Given the description of an element on the screen output the (x, y) to click on. 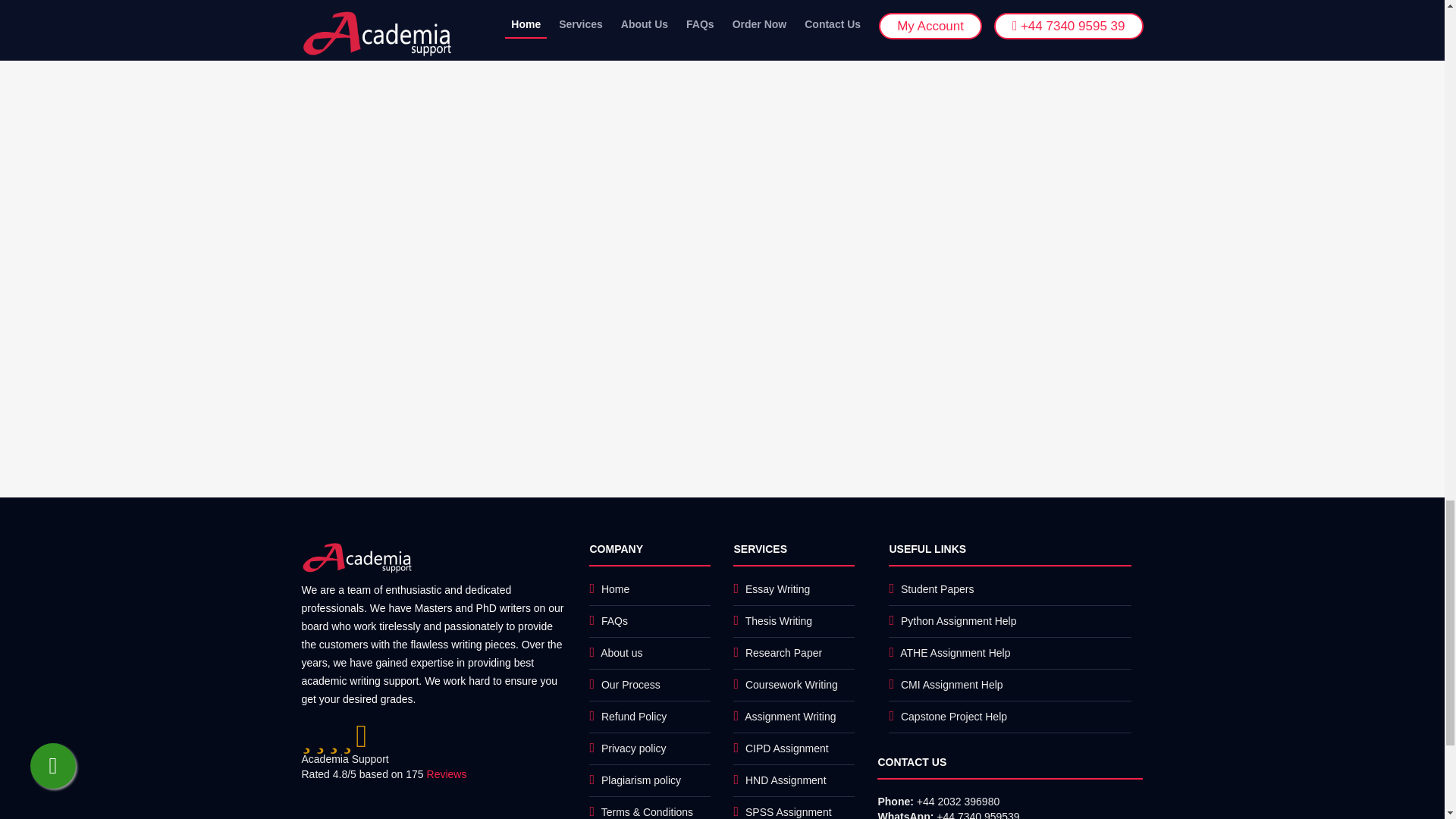
Our Process (631, 684)
Home (614, 589)
HND Assignment (786, 779)
Assignment Writing (789, 716)
FAQs (614, 621)
CIPD Assignment (786, 748)
Plagiarism policy (641, 779)
About us (620, 653)
Essay Writing (777, 589)
Privacy policy (633, 748)
Thesis Writing (778, 621)
SPSS Assignment (788, 811)
Reviews (446, 774)
Refund Policy (633, 716)
Coursework Writing (791, 684)
